Given the description of an element on the screen output the (x, y) to click on. 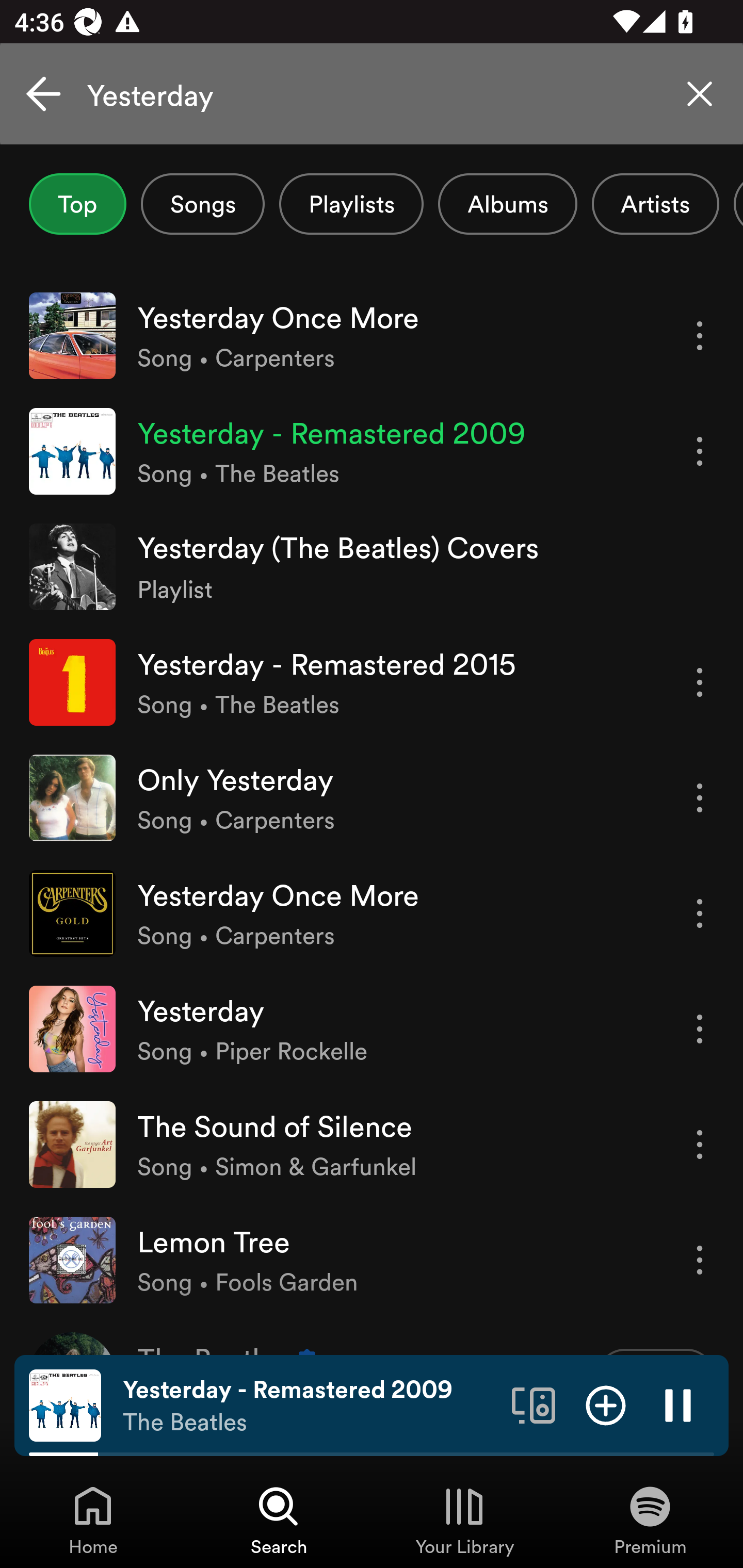
Yesterday (371, 93)
Cancel (43, 93)
Clear search query (699, 93)
Top (77, 203)
Songs (202, 203)
Playlists (351, 203)
Albums (507, 203)
Artists (655, 203)
More options for song Yesterday Once More (699, 336)
More options for song Yesterday - Remastered 2009 (699, 450)
Yesterday (The Beatles) Covers Playlist (371, 566)
More options for song Yesterday - Remastered 2015 (699, 682)
More options for song Only Yesterday (699, 798)
More options for song Yesterday Once More (699, 913)
More options for song Yesterday (699, 1029)
More options for song The Sound of Silence (699, 1144)
More options for song Lemon Tree (699, 1259)
Yesterday - Remastered 2009 The Beatles (309, 1405)
The cover art of the currently playing track (64, 1404)
Connect to a device. Opens the devices menu (533, 1404)
Add item (605, 1404)
Pause (677, 1404)
Home, Tab 1 of 4 Home Home (92, 1519)
Search, Tab 2 of 4 Search Search (278, 1519)
Your Library, Tab 3 of 4 Your Library Your Library (464, 1519)
Premium, Tab 4 of 4 Premium Premium (650, 1519)
